Given the description of an element on the screen output the (x, y) to click on. 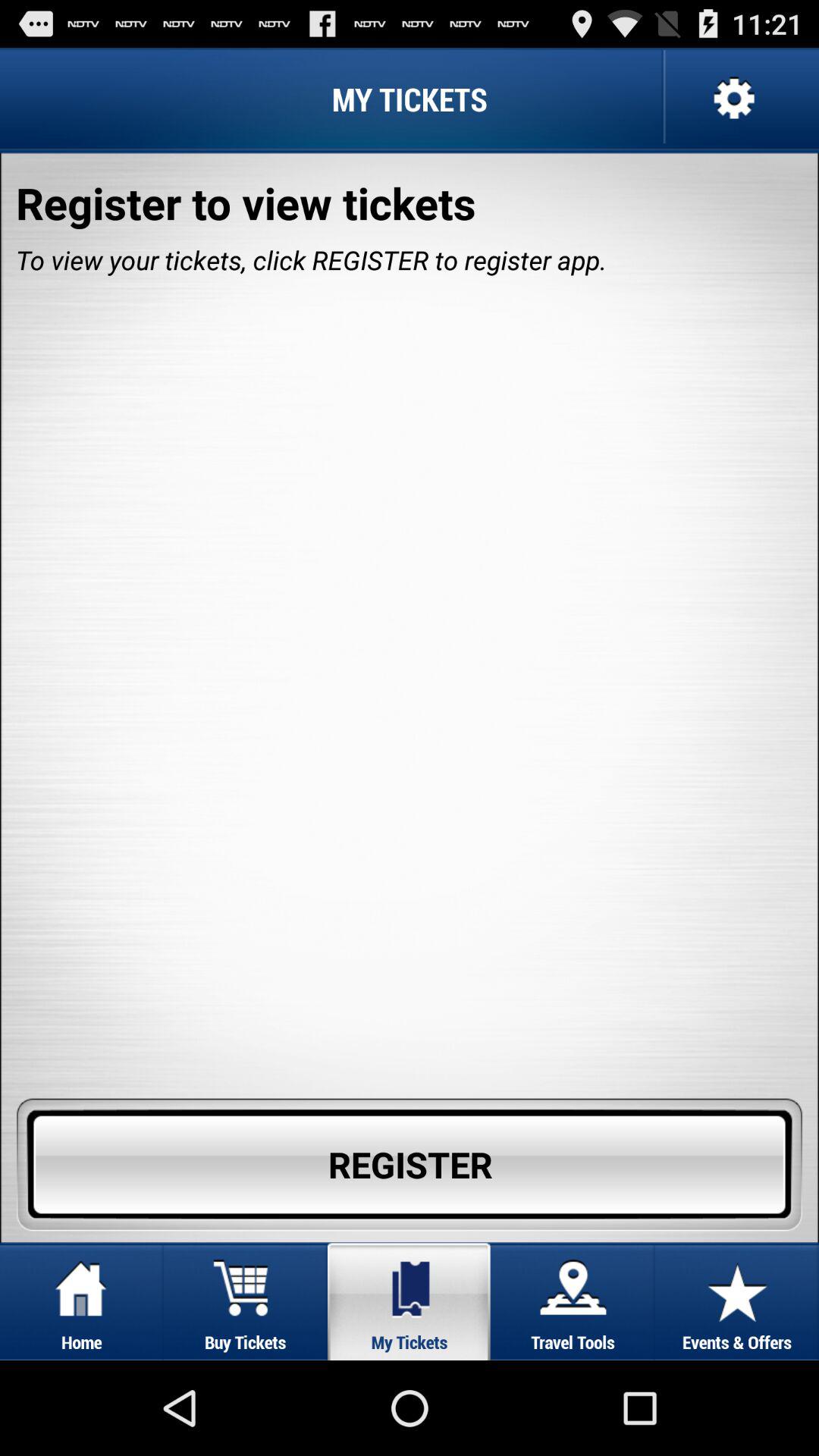
turn off icon at the top right corner (732, 99)
